Given the description of an element on the screen output the (x, y) to click on. 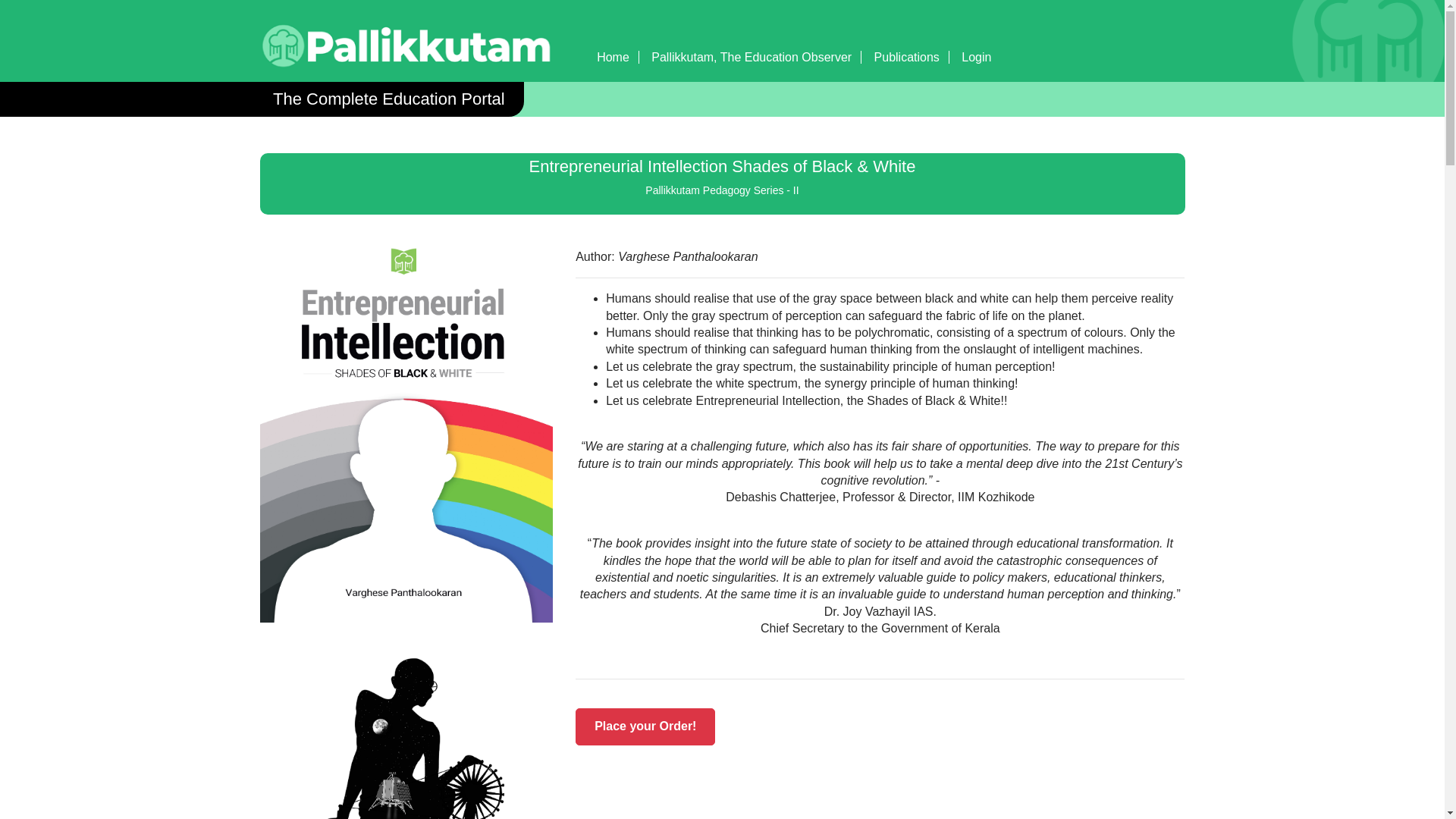
Home (612, 56)
Pallikkutam, The Education Observer (750, 56)
Place your Order! (644, 726)
Publications (907, 56)
Login (975, 56)
